Given the description of an element on the screen output the (x, y) to click on. 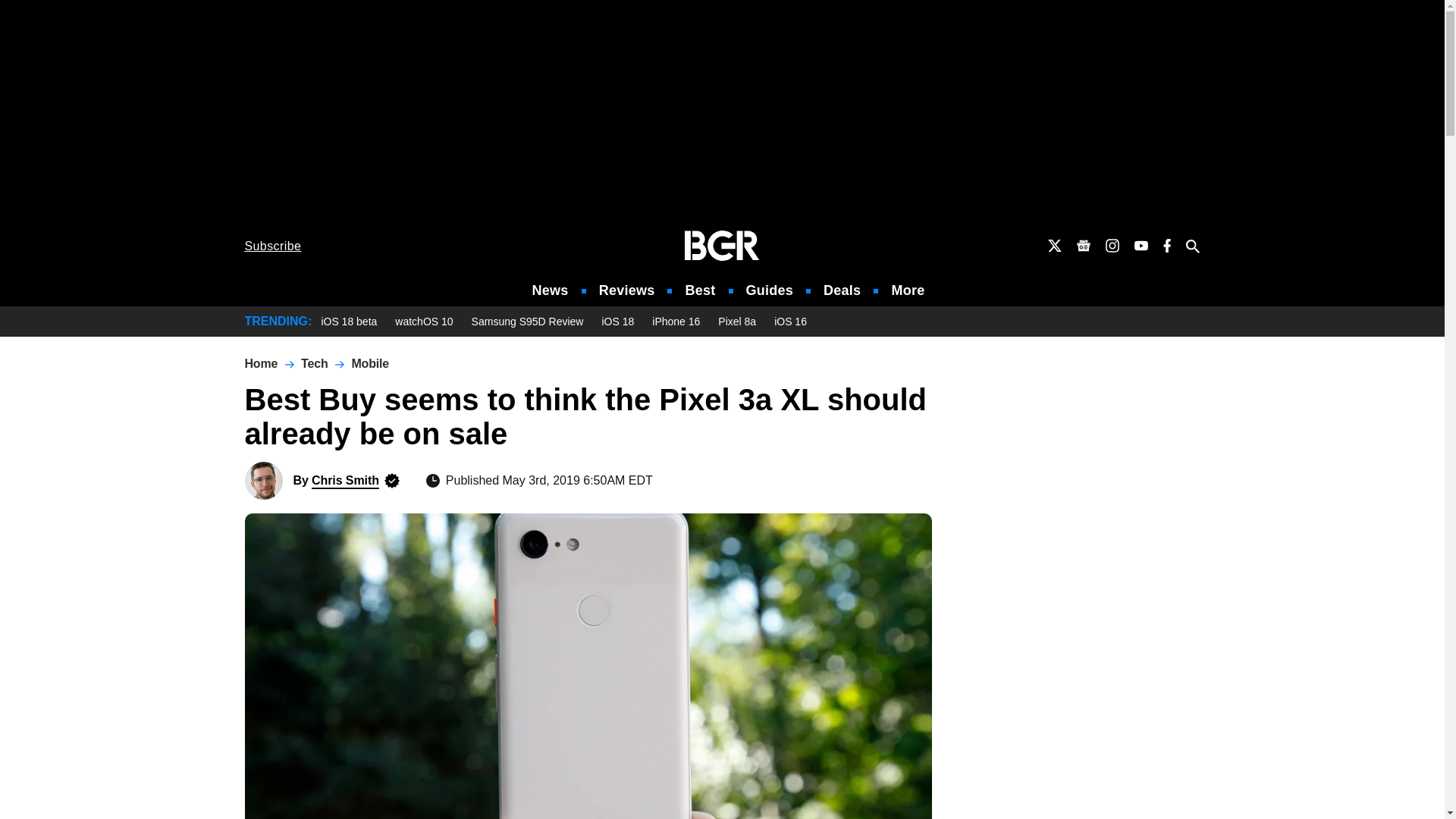
Posts by Chris Smith (344, 480)
More (907, 290)
News (550, 290)
Guides (769, 290)
Reviews (626, 290)
Subscribe (272, 245)
Best (699, 290)
Deals (842, 290)
